Given the description of an element on the screen output the (x, y) to click on. 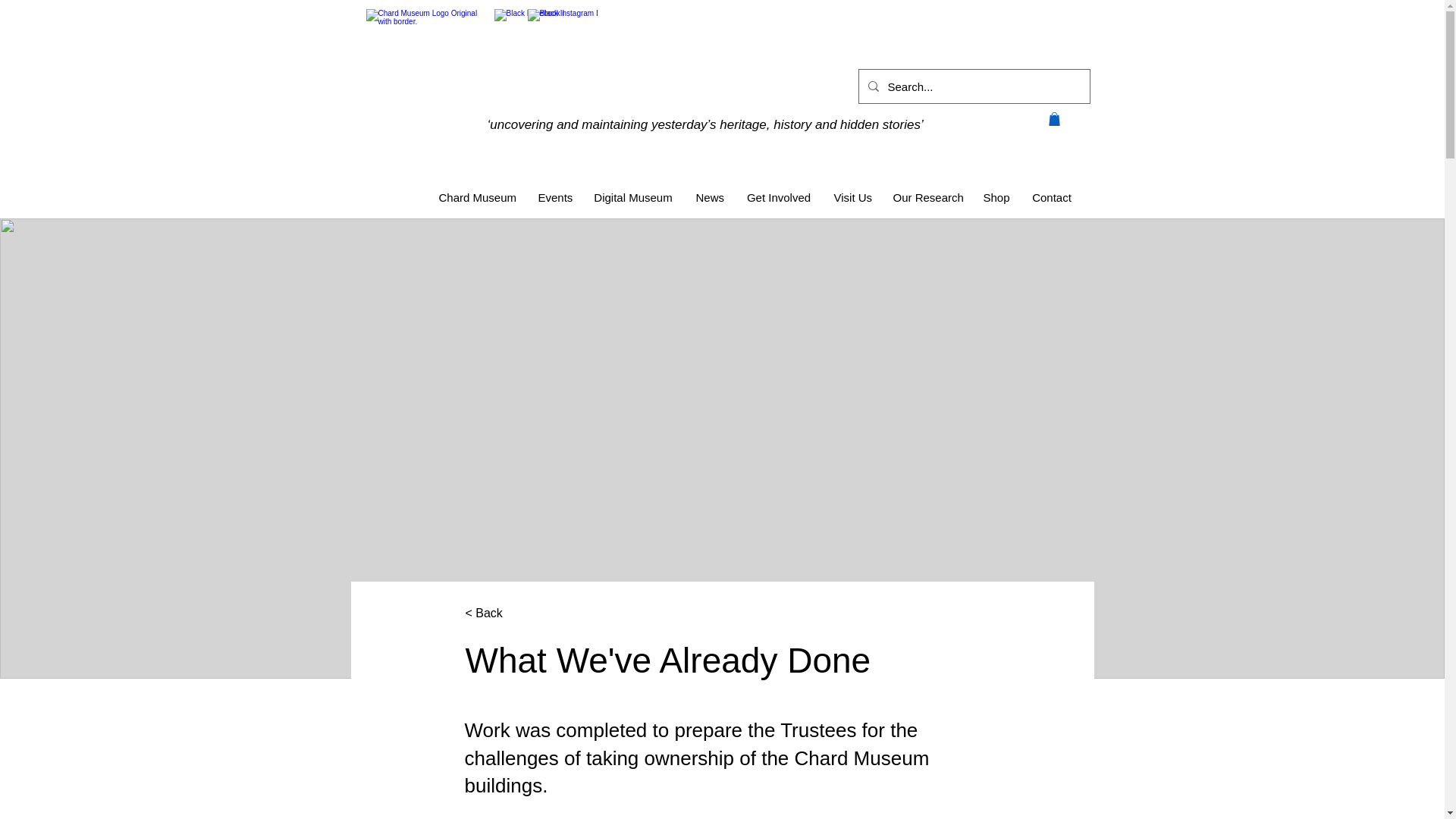
Shop (996, 198)
Get Involved (778, 198)
Chard 50 Logo 01.jpg (424, 65)
Chard Museum (477, 198)
Digital Museum (633, 198)
News (709, 198)
Donate (931, 25)
Events (552, 198)
Contact (1051, 198)
Book Visit (1028, 25)
